Given the description of an element on the screen output the (x, y) to click on. 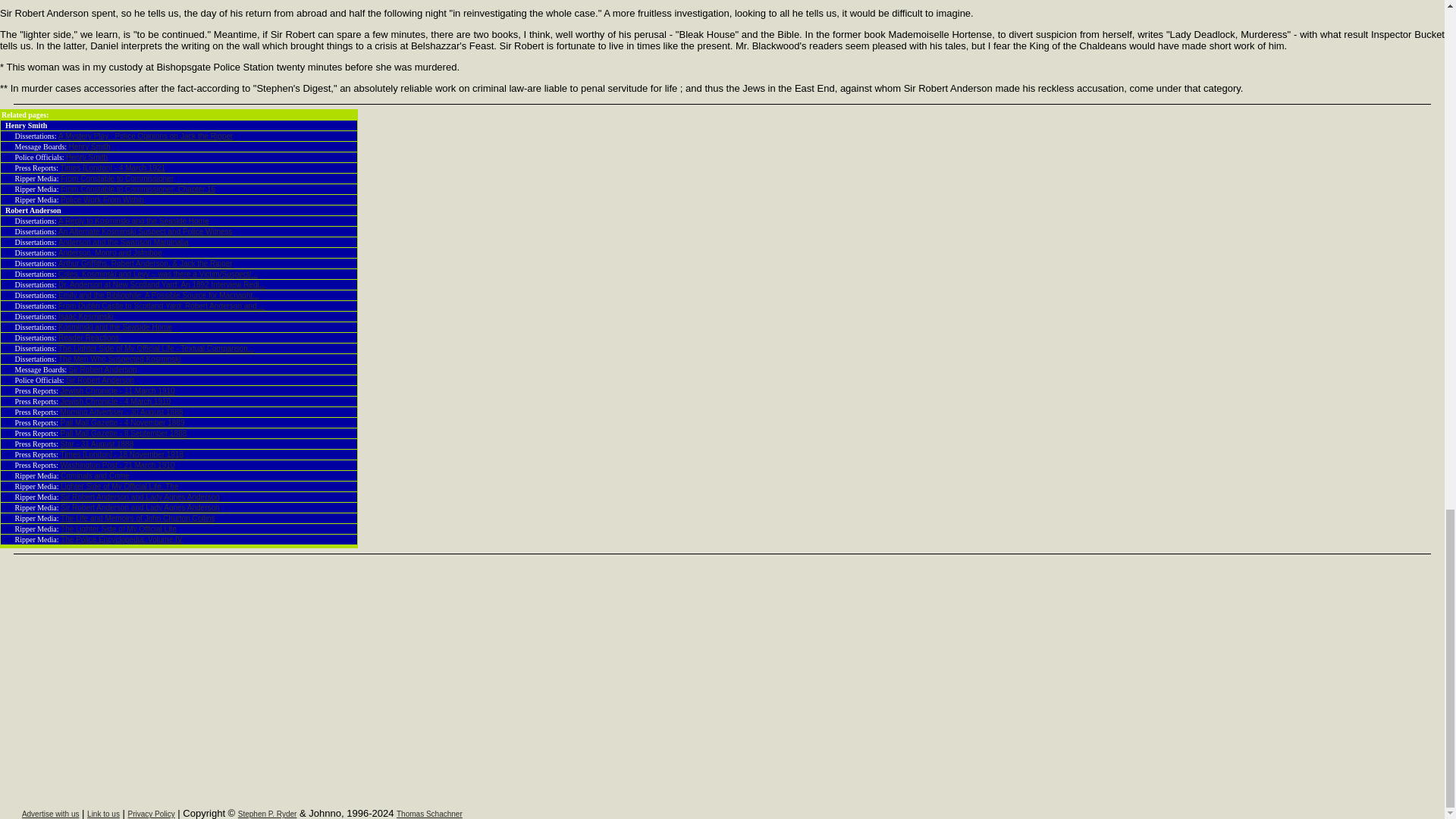
Lighter Side of My Official Life, The (119, 486)
Isaac Kosminski (85, 316)
The Police Encyclopedia: Volume IV (122, 539)
Washington Post - 21 March 1910 (117, 465)
A Reply to Kosminski and the Seaside Home (133, 221)
Henry Smith (89, 146)
Emily and the Bibliophile: A Possible Source for Macnaght... (158, 295)
Morning Advertiser - 30 August 1888 (122, 411)
Sir Robert Anderson (102, 369)
Dr. Anderson at New Scotland Yard: An 1892 Interview Redi... (161, 284)
A Mystery Play : Police Opinions on Jack the Ripper (145, 135)
The Men Who Suspected Kosminski (119, 358)
Sir Robert Anderson and Lady Agnes Anderson (140, 497)
Reader Reactions (88, 337)
Anderson and the Swanson Marginalia (123, 242)
